Given the description of an element on the screen output the (x, y) to click on. 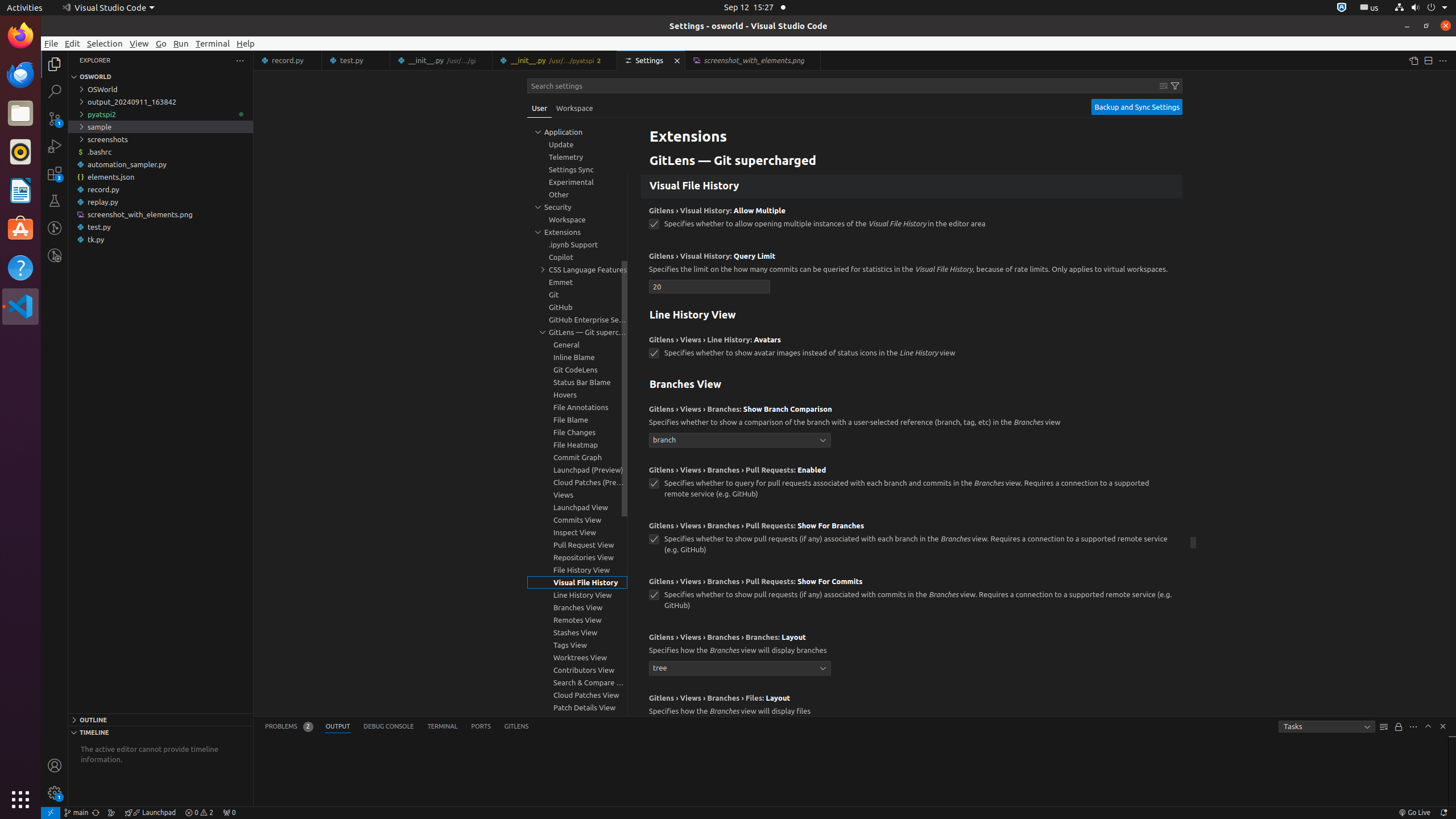
screenshot_with_elements.png Element type: tree-item (160, 214)
OSWorld (Git) - Synchronize Changes Element type: push-button (95, 812)
Copilot, group Element type: tree-item (577, 256)
Inspect View, group Element type: tree-item (577, 532)
